Given the description of an element on the screen output the (x, y) to click on. 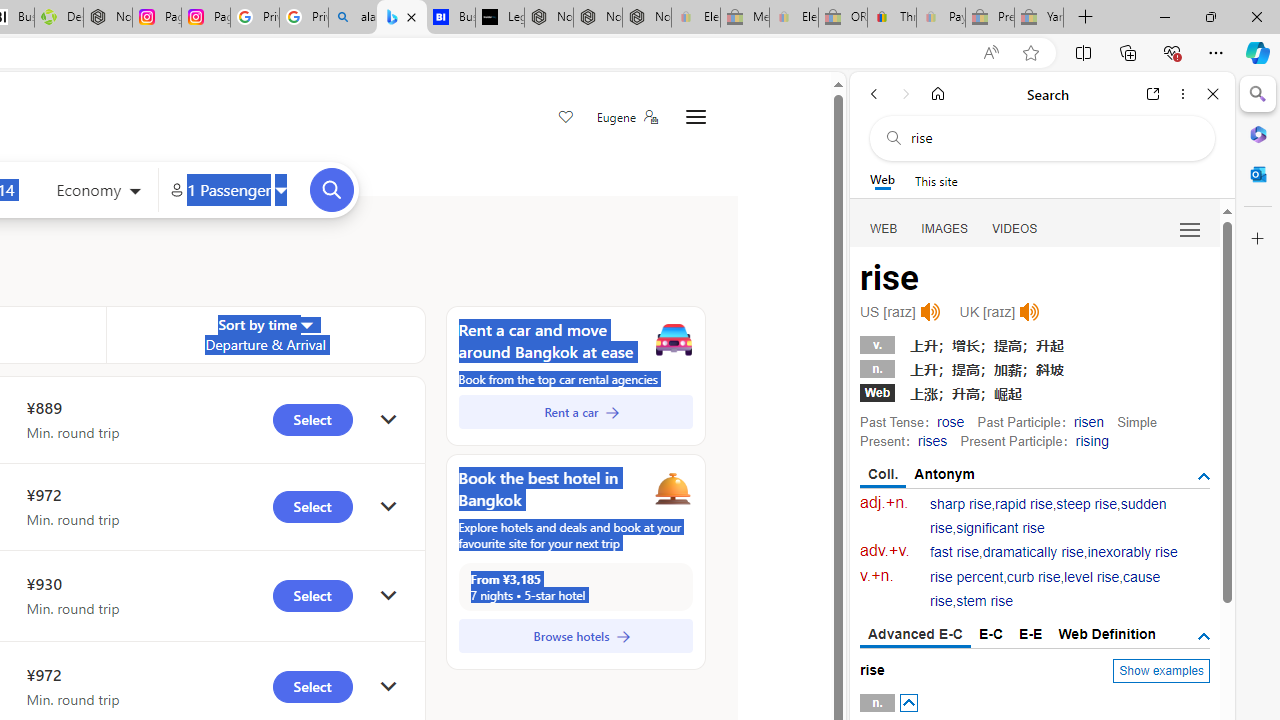
Select class of service (98, 192)
inexorably rise (1131, 552)
